Given the description of an element on the screen output the (x, y) to click on. 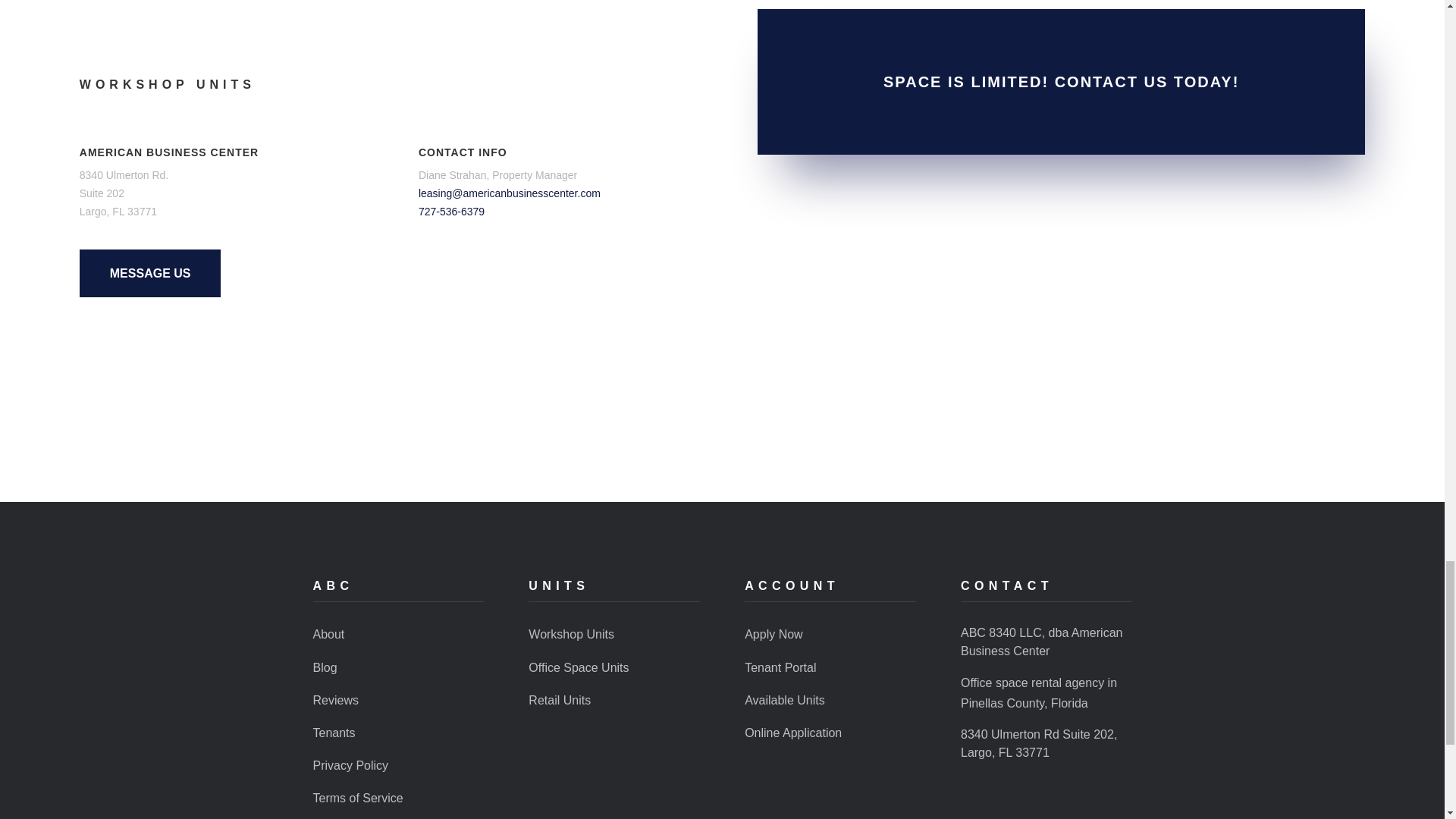
About (328, 634)
727-536-6379 (451, 211)
Privacy Policy (350, 765)
Workshop Units (571, 634)
UNITS (558, 585)
Blog (324, 667)
Office Space Units (578, 667)
MESSAGE US (150, 272)
Reviews (335, 699)
ABC (333, 585)
